Given the description of an element on the screen output the (x, y) to click on. 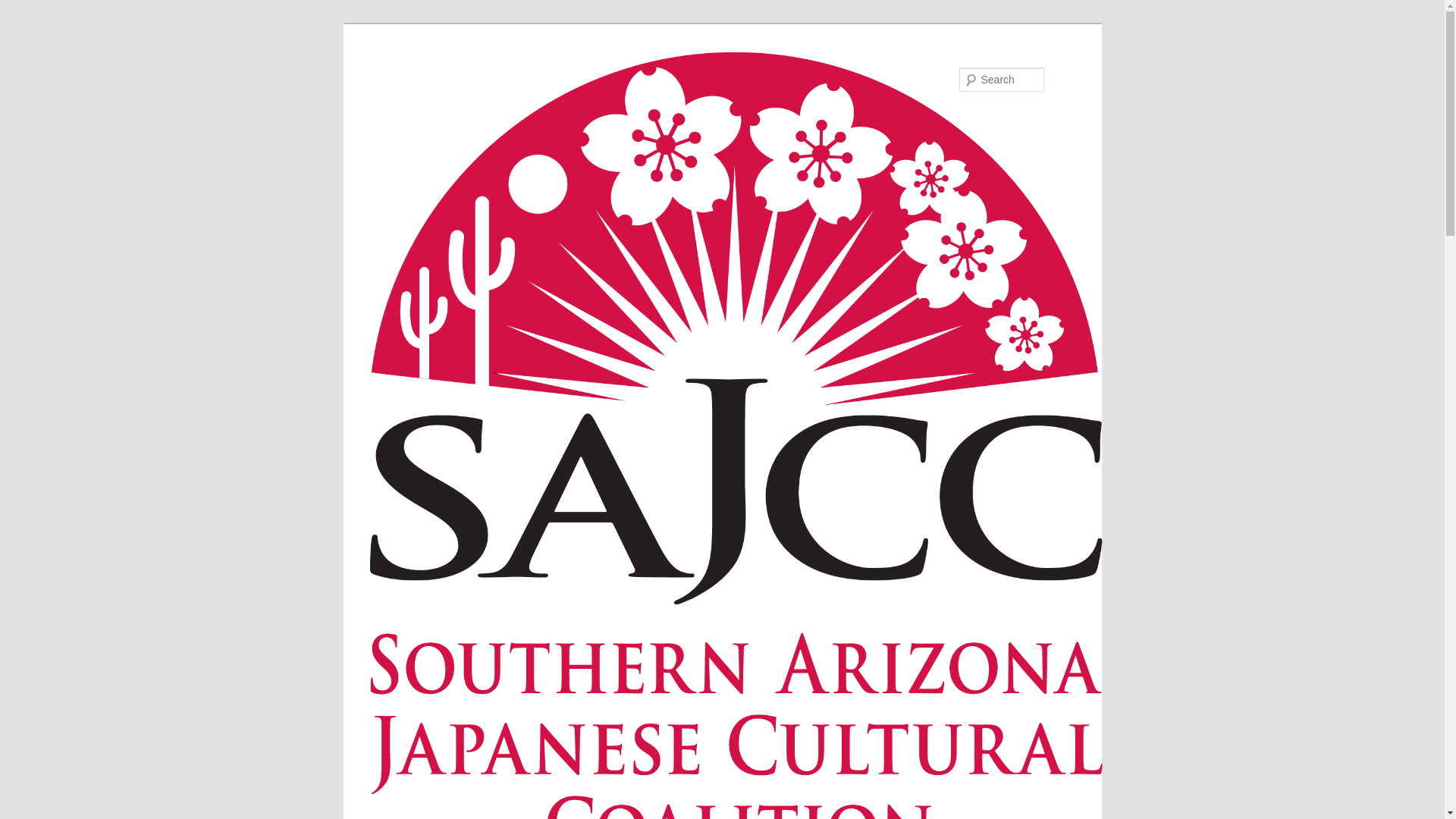
Search (24, 8)
